Given the description of an element on the screen output the (x, y) to click on. 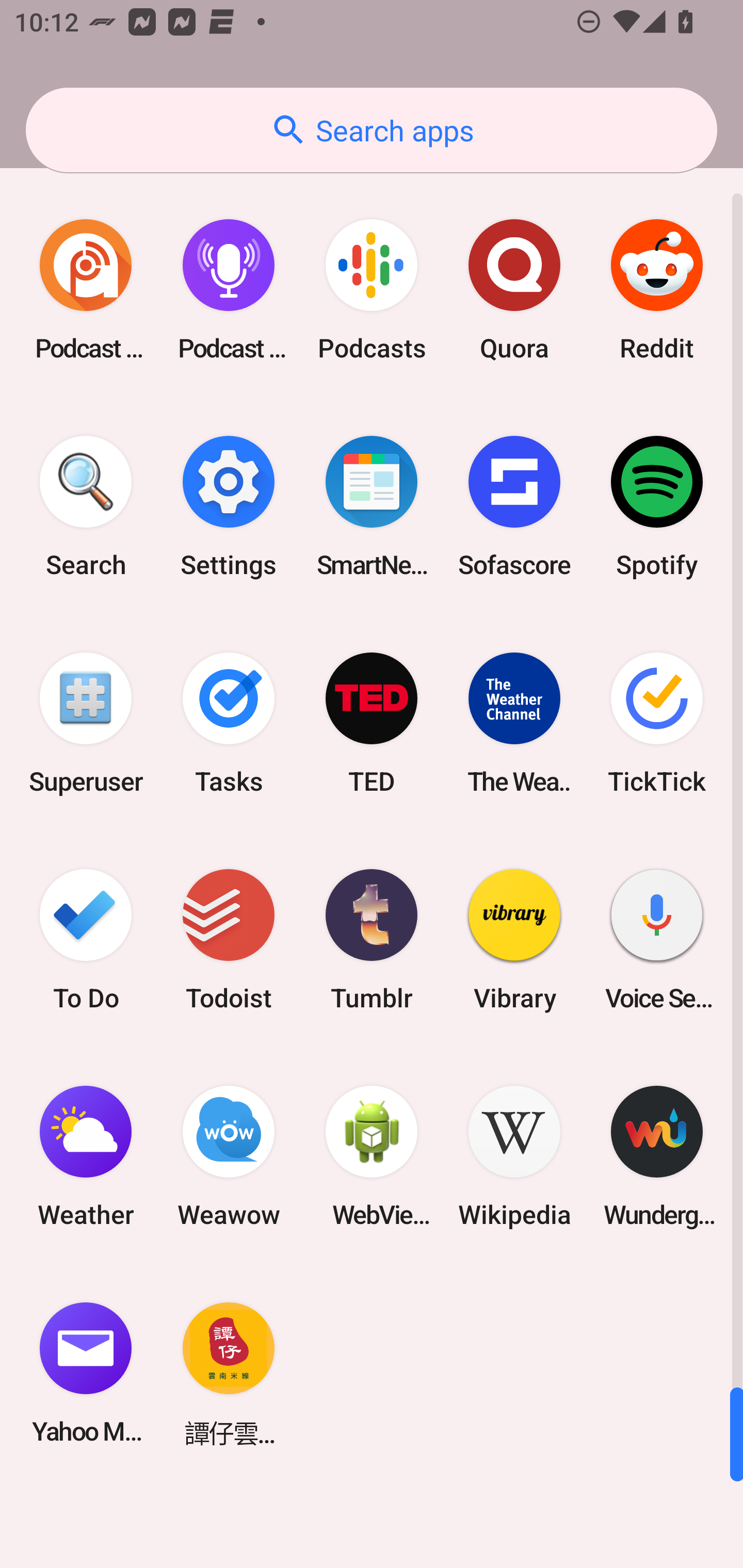
  Search apps (371, 130)
Podcast Addict (85, 289)
Podcast Player (228, 289)
Podcasts (371, 289)
Quora (514, 289)
Reddit (656, 289)
Search (85, 506)
Settings (228, 506)
SmartNews (371, 506)
Sofascore (514, 506)
Spotify (656, 506)
Superuser (85, 722)
Tasks (228, 722)
TED (371, 722)
The Weather Channel (514, 722)
TickTick (656, 722)
To Do (85, 939)
Todoist (228, 939)
Tumblr (371, 939)
Vibrary (514, 939)
Voice Search (656, 939)
Weather (85, 1156)
Weawow (228, 1156)
WebView Browser Tester (371, 1156)
Wikipedia (514, 1156)
Wunderground (656, 1156)
Yahoo Mail (85, 1373)
譚仔雲南米線 (228, 1373)
